Given the description of an element on the screen output the (x, y) to click on. 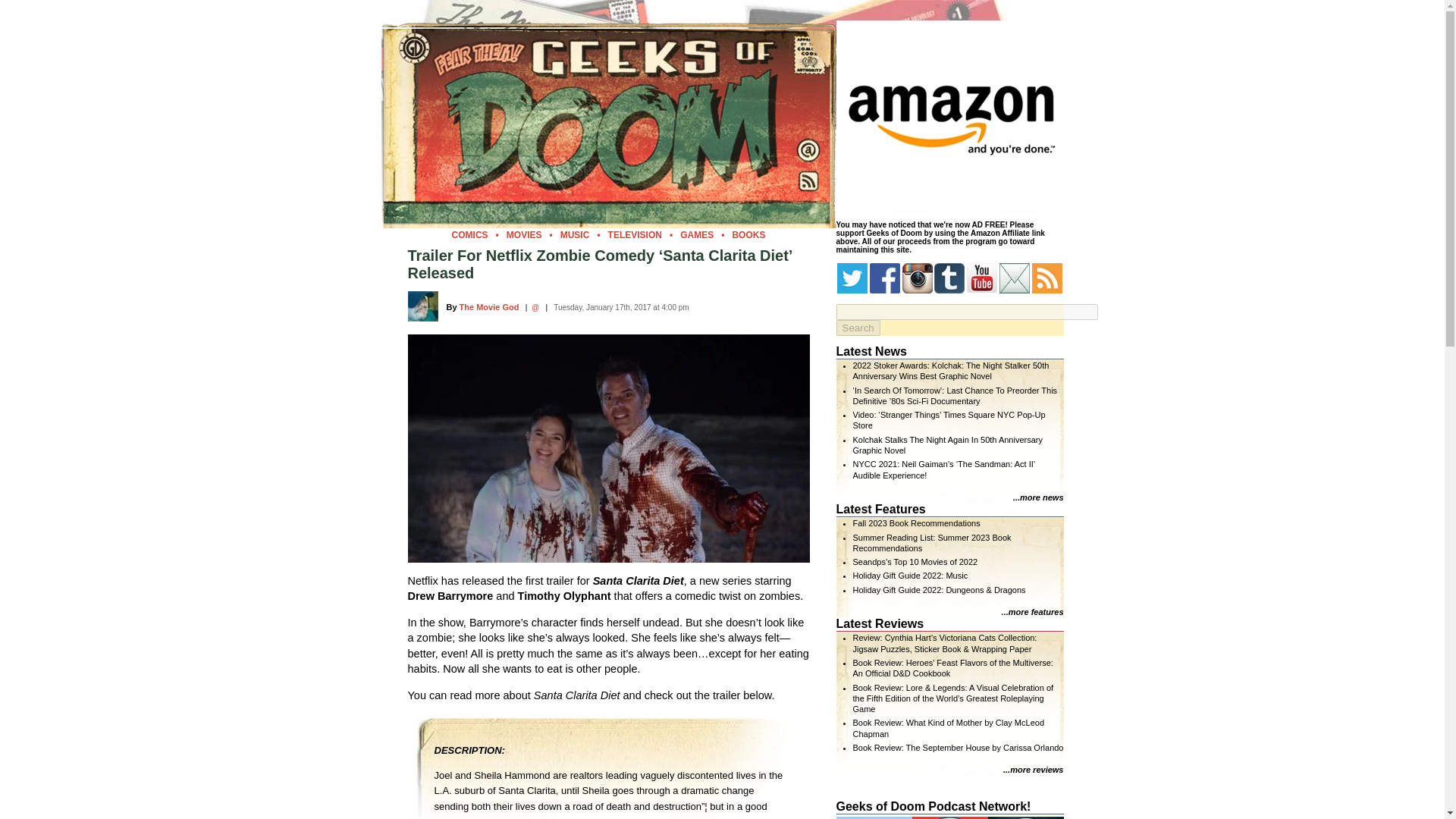
BOOKS (748, 235)
The Movie God (489, 307)
Santa Clarita Diet (608, 447)
MUSIC (574, 235)
Search (857, 327)
View The Movie God's profile (489, 307)
GAMES (696, 235)
COMICS (469, 235)
Follow Geeks of Doom on Twitter (852, 277)
TELEVISION (635, 235)
